Given the description of an element on the screen output the (x, y) to click on. 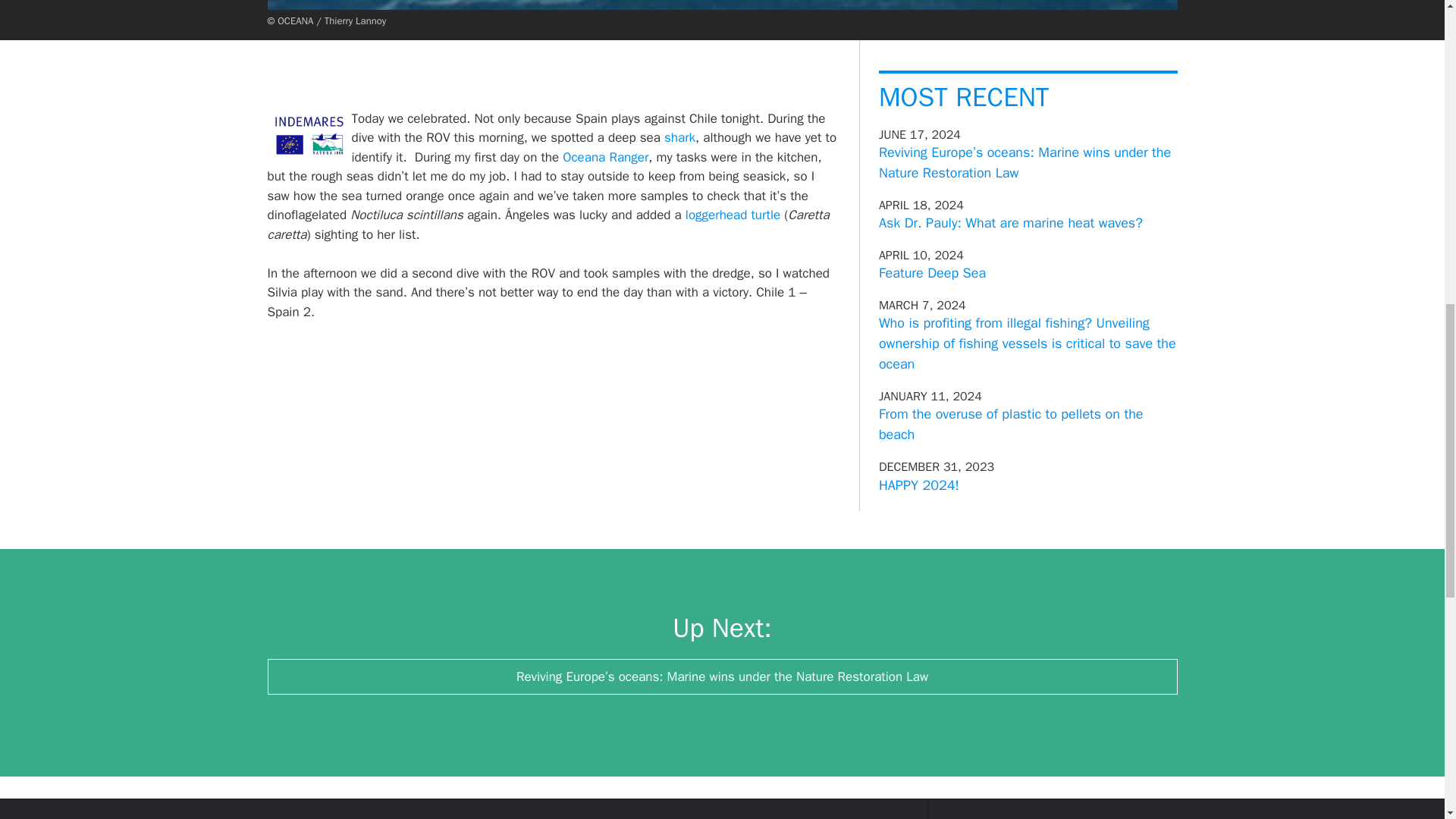
Ask Dr. Pauly: What are marine heat waves? (1010, 222)
Oceana Ranger (604, 156)
shark (679, 137)
Scroll back to top (1406, 720)
Feature Deep Sea (932, 272)
loggerhead turtle (732, 214)
